Given the description of an element on the screen output the (x, y) to click on. 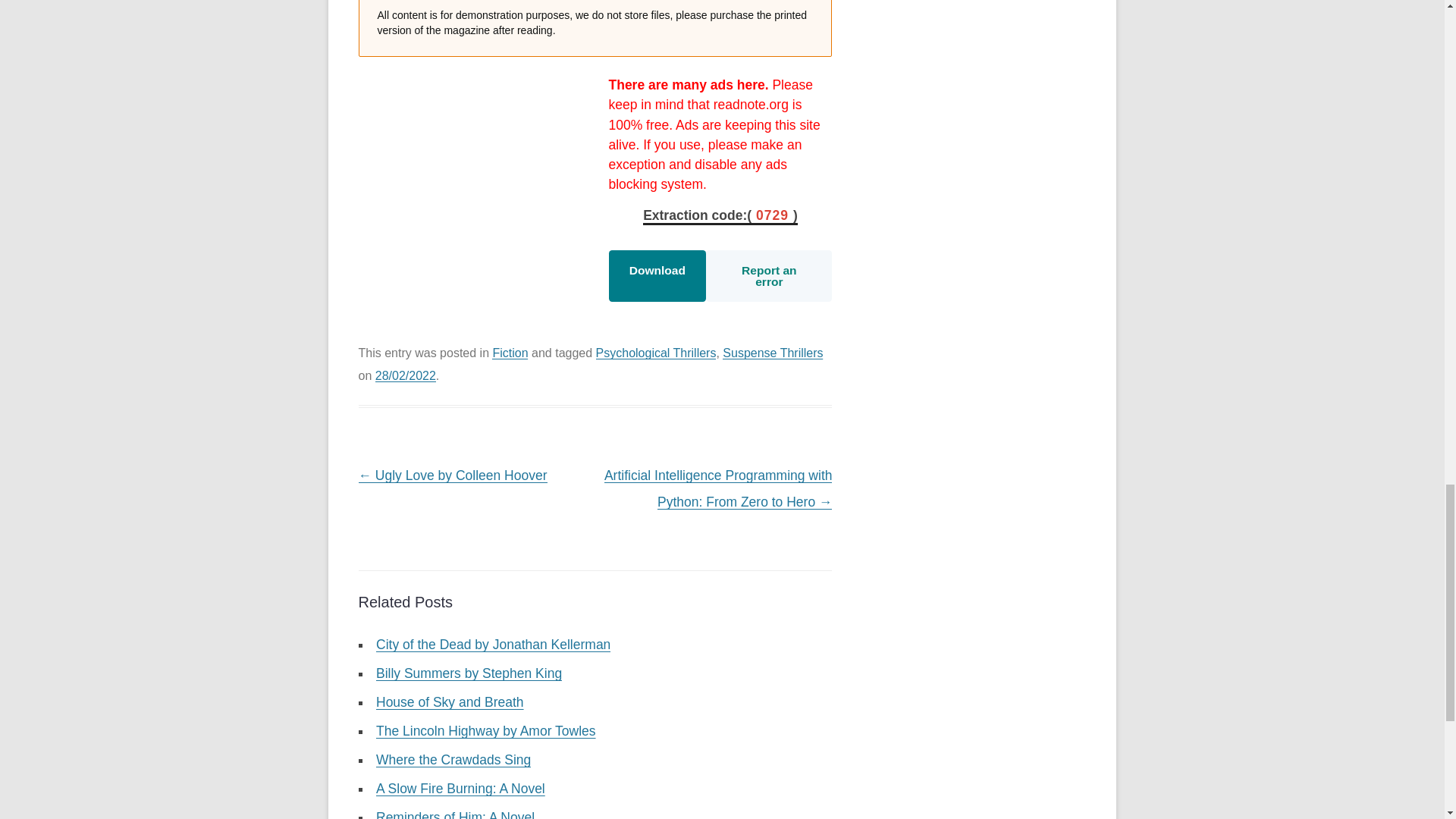
Billy Summers by Stephen King (468, 672)
House of Sky and Breath (449, 702)
Reminders of Him: A Novel (454, 814)
City of the Dead by Jonathan Kellerman (492, 644)
The Lincoln Highway by Amor Towles (485, 730)
Suspense Thrillers (772, 352)
Where the Crawdads Sing (453, 759)
Download (657, 276)
23:22 (405, 375)
3rd party ad content (471, 196)
